Given the description of an element on the screen output the (x, y) to click on. 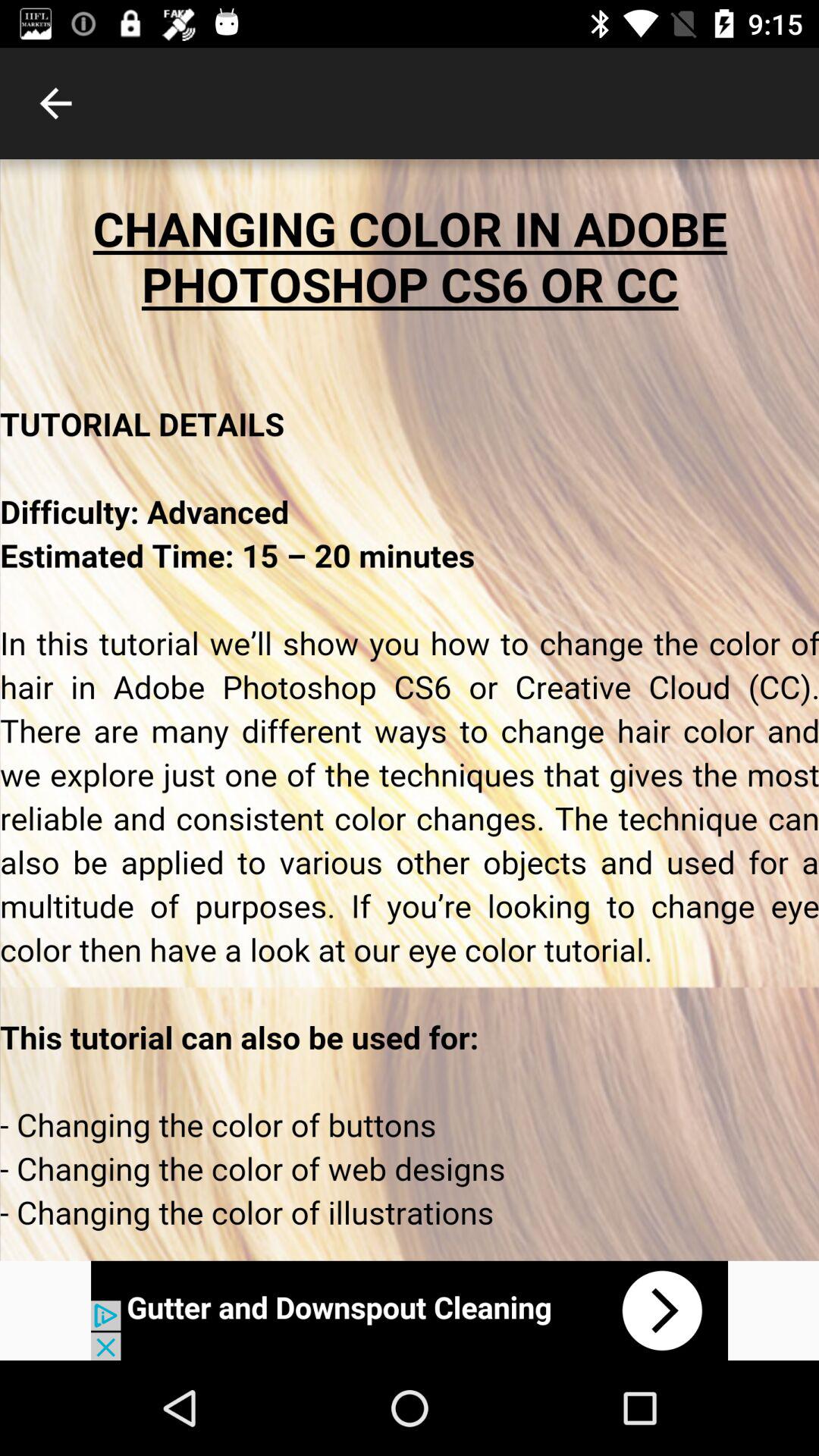
know about the advertisement (409, 1310)
